Given the description of an element on the screen output the (x, y) to click on. 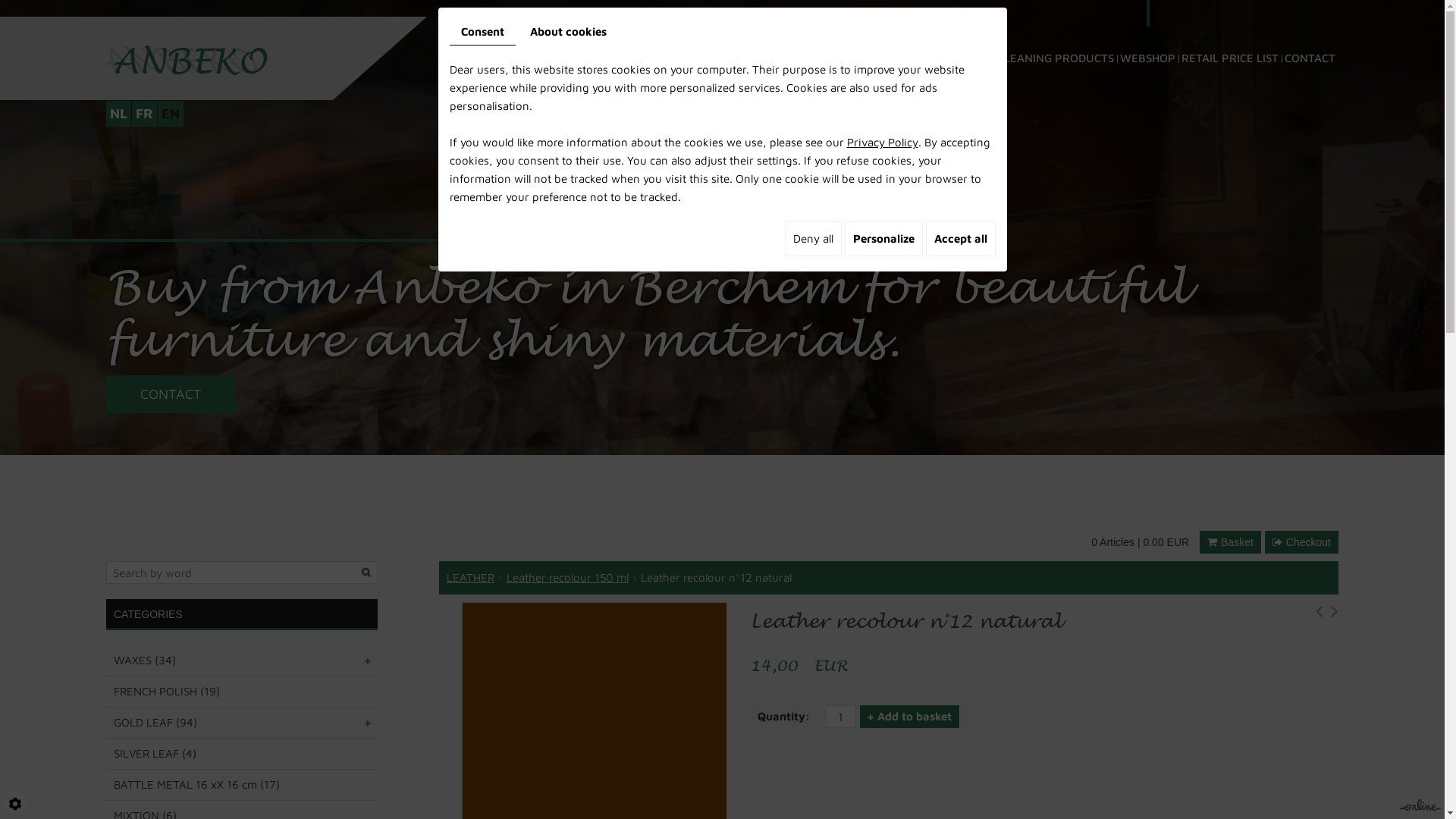
Checkout Element type: text (1301, 541)
Personalize Element type: text (883, 238)
Add to basket Element type: text (909, 716)
Anbeko - Restoratieproducten Element type: hover (186, 58)
Deny all Element type: text (812, 238)
1 Element type: hover (840, 716)
CONTACT Element type: text (1309, 37)
FR Element type: text (143, 113)
About cookies Element type: text (568, 31)
EN Element type: text (170, 113)
WEBSHOP Element type: text (1147, 37)
RESTORATION OF FURNITURE Element type: text (642, 37)
GOLD LEAF/IMITATION GOLD Element type: text (803, 37)
Apply Element type: text (366, 572)
Accept all Element type: text (959, 238)
BATTLE METAL 16 xX 16 cm (17) Element type: text (241, 784)
HOME Element type: text (509, 37)
  Element type: text (368, 660)
FRENCH POLISH (19) Element type: text (241, 691)
SILVER LEAF (4) Element type: text (241, 753)
Basket Element type: text (1230, 541)
NL Element type: text (118, 113)
WAXES (34) Element type: text (241, 660)
Consent Element type: text (481, 31)
RETAIL PRICE LIST Element type: text (1229, 37)
WAX Element type: text (543, 37)
Leather recolour 150 ml Element type: text (567, 577)
Privacy Policy Element type: text (881, 141)
LEATHER Element type: text (470, 577)
Next Element type: text (1334, 614)
Edit cookies setting Element type: text (14, 803)
SANDING MATERIAL Element type: text (938, 37)
GOLD LEAF (94) Element type: text (241, 722)
  Element type: text (368, 722)
CLEANING PRODUCTS Element type: text (1055, 37)
Previous Element type: text (1319, 614)
CONTACT Element type: text (170, 394)
